Given the description of an element on the screen output the (x, y) to click on. 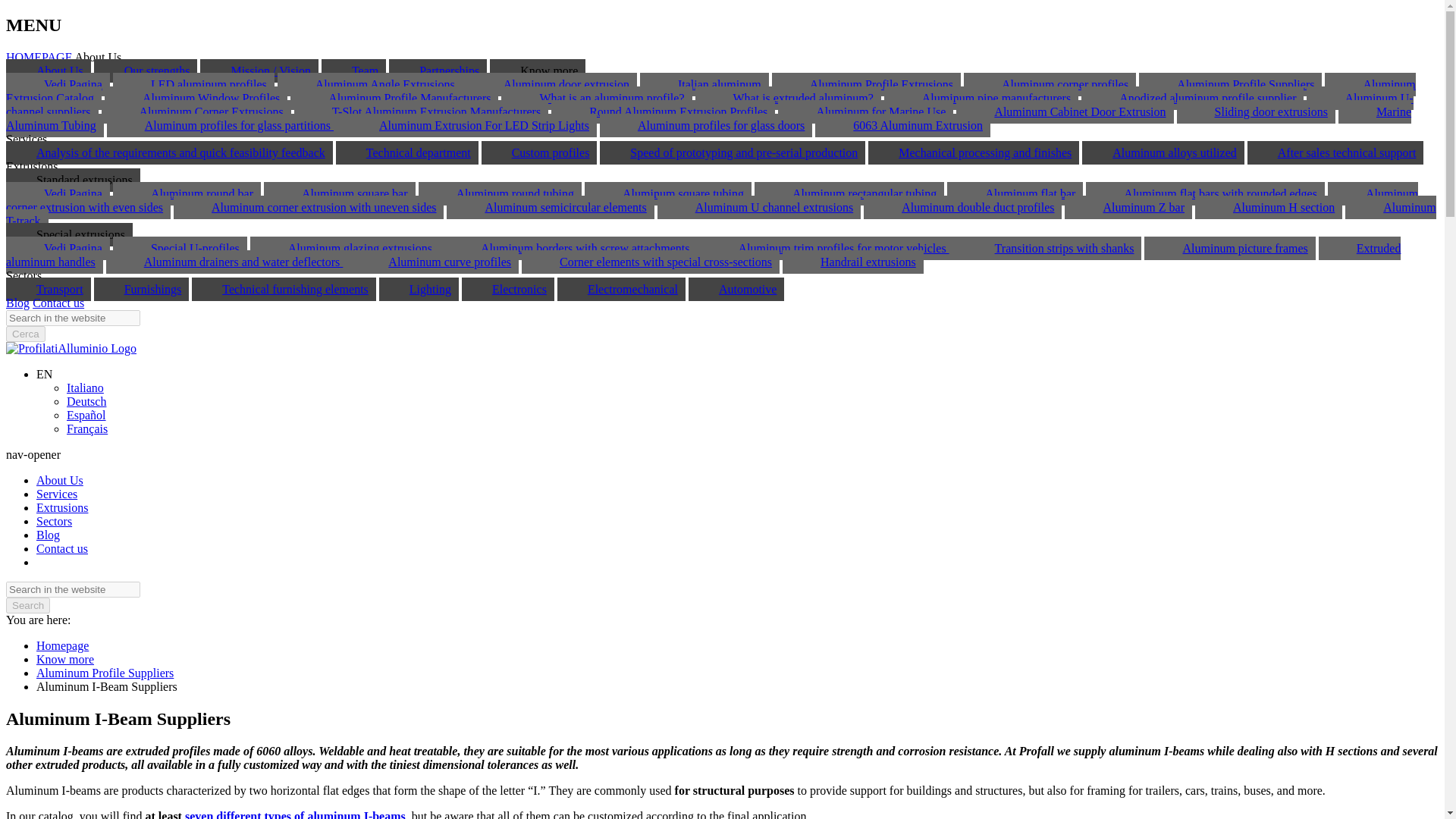
Aluminum Extrusion For LED Strip Lights (468, 125)
Analysis of the requirements and quick feasibility feedback (169, 152)
Italian aluminum (704, 84)
Marine Aluminum Tubing (707, 118)
What is an aluminum profile? (595, 97)
Know more (537, 70)
Aluminum Cabinet Door Extrusion (1064, 111)
What is extruded aluminum? (787, 97)
Aluminum Window Profiles (195, 97)
Aluminum corner profiles (1049, 84)
Team (353, 70)
Our strengths (146, 70)
Round Aluminum Extrusion Profiles (662, 111)
Aluminum profiles for glass doors (705, 125)
Sliding door extrusions (1255, 111)
